Given the description of an element on the screen output the (x, y) to click on. 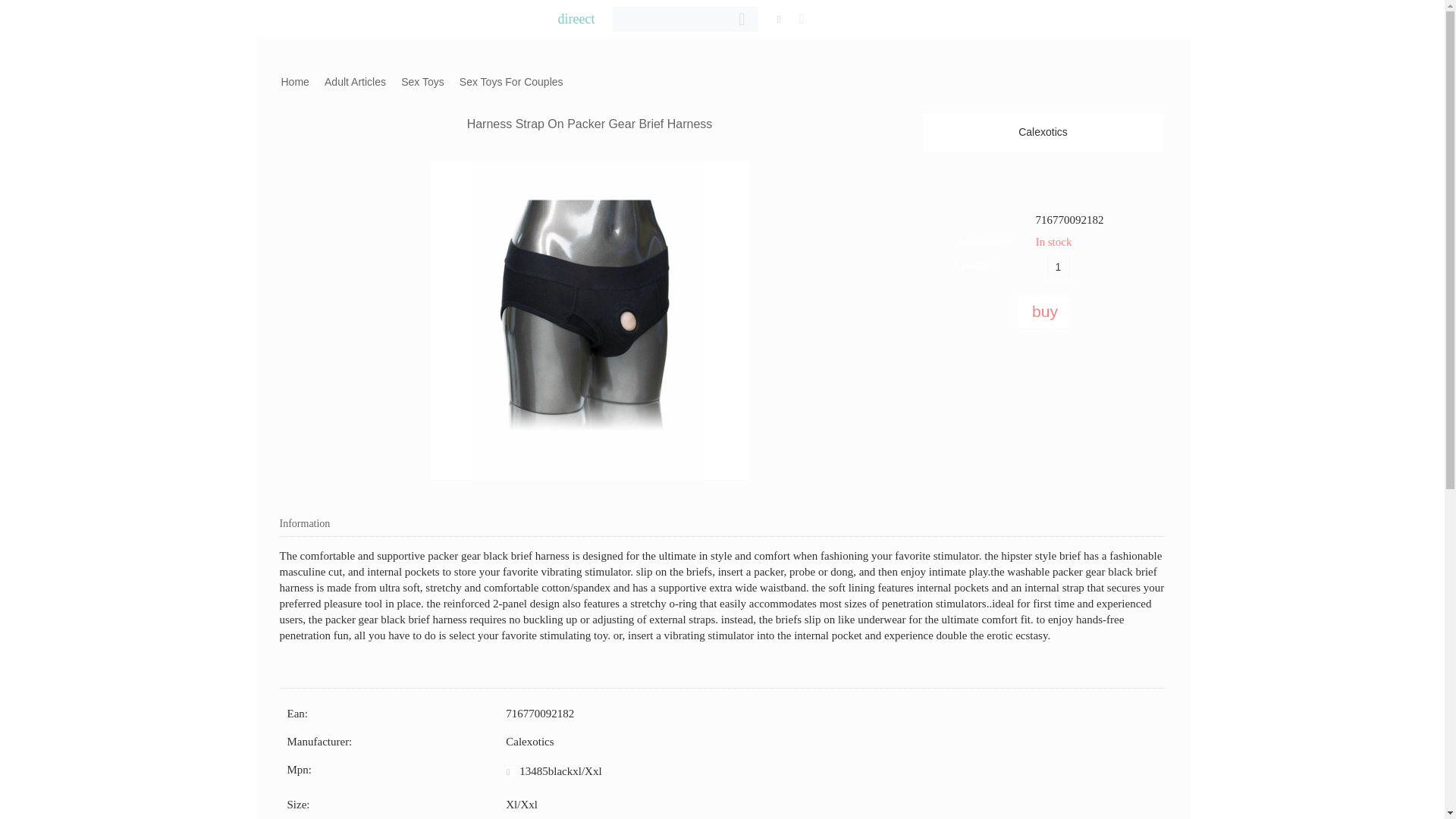
buy (1042, 311)
Harness Strap On Packer Gear Brief Harness (589, 320)
buy (1042, 311)
1 (1058, 266)
Sex Toys (421, 81)
Adult Articles (355, 81)
Calexotics (1042, 132)
Sex Toys For Couples (511, 81)
direect (575, 18)
Home (294, 81)
